Given the description of an element on the screen output the (x, y) to click on. 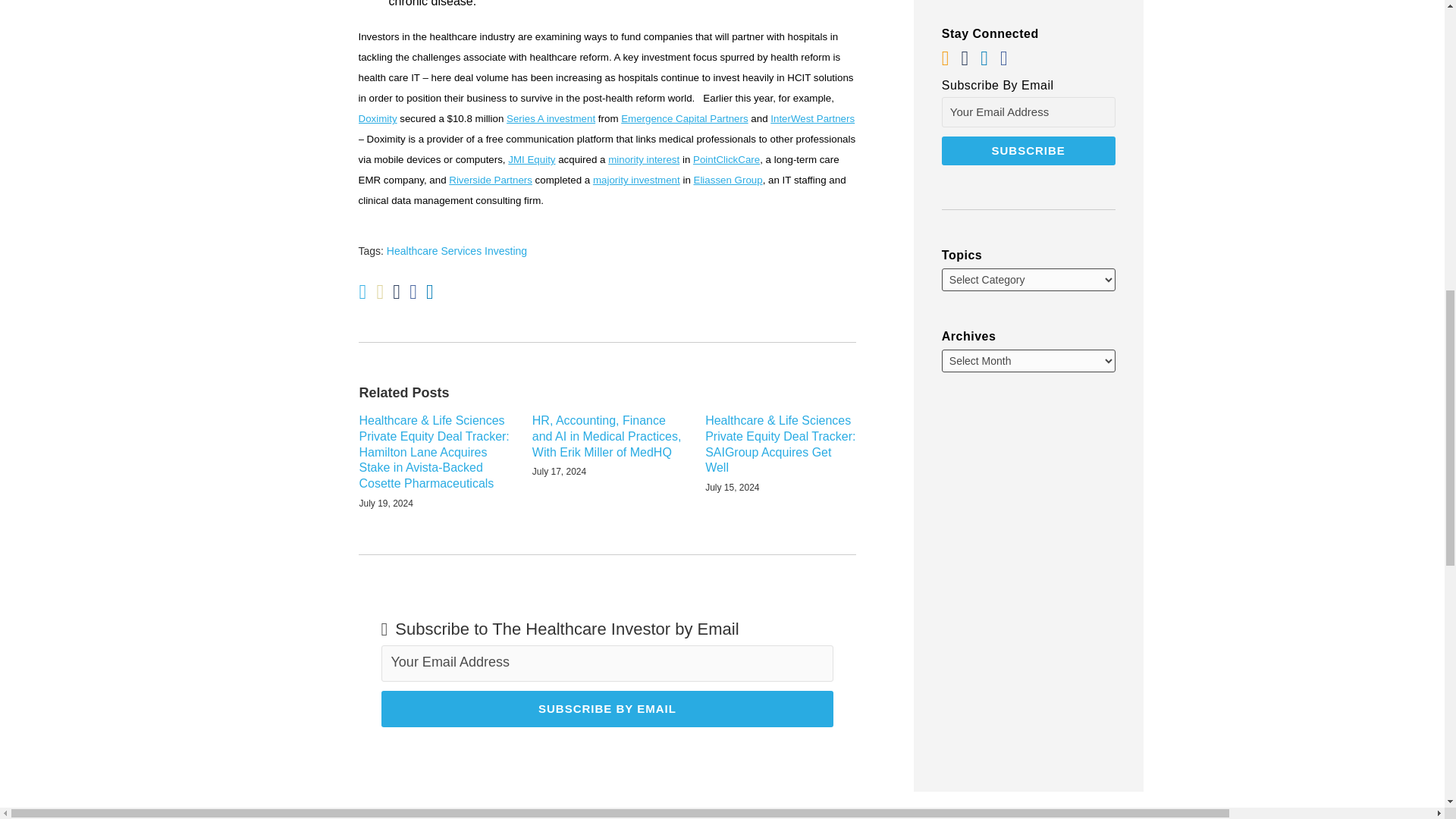
JMI Equity (531, 159)
Series A investment (550, 118)
Subscribe (1028, 150)
minority interest (643, 159)
Eliassen Group (728, 179)
Healthcare Services Investing (457, 250)
InterWest Partners (812, 118)
Doximity (377, 118)
Subscribe by Email (606, 709)
Riverside Partners (490, 179)
Subscribe by Email (606, 709)
PointClickCare (726, 159)
majority investment (635, 179)
Emergence Capital Partners (684, 118)
